Given the description of an element on the screen output the (x, y) to click on. 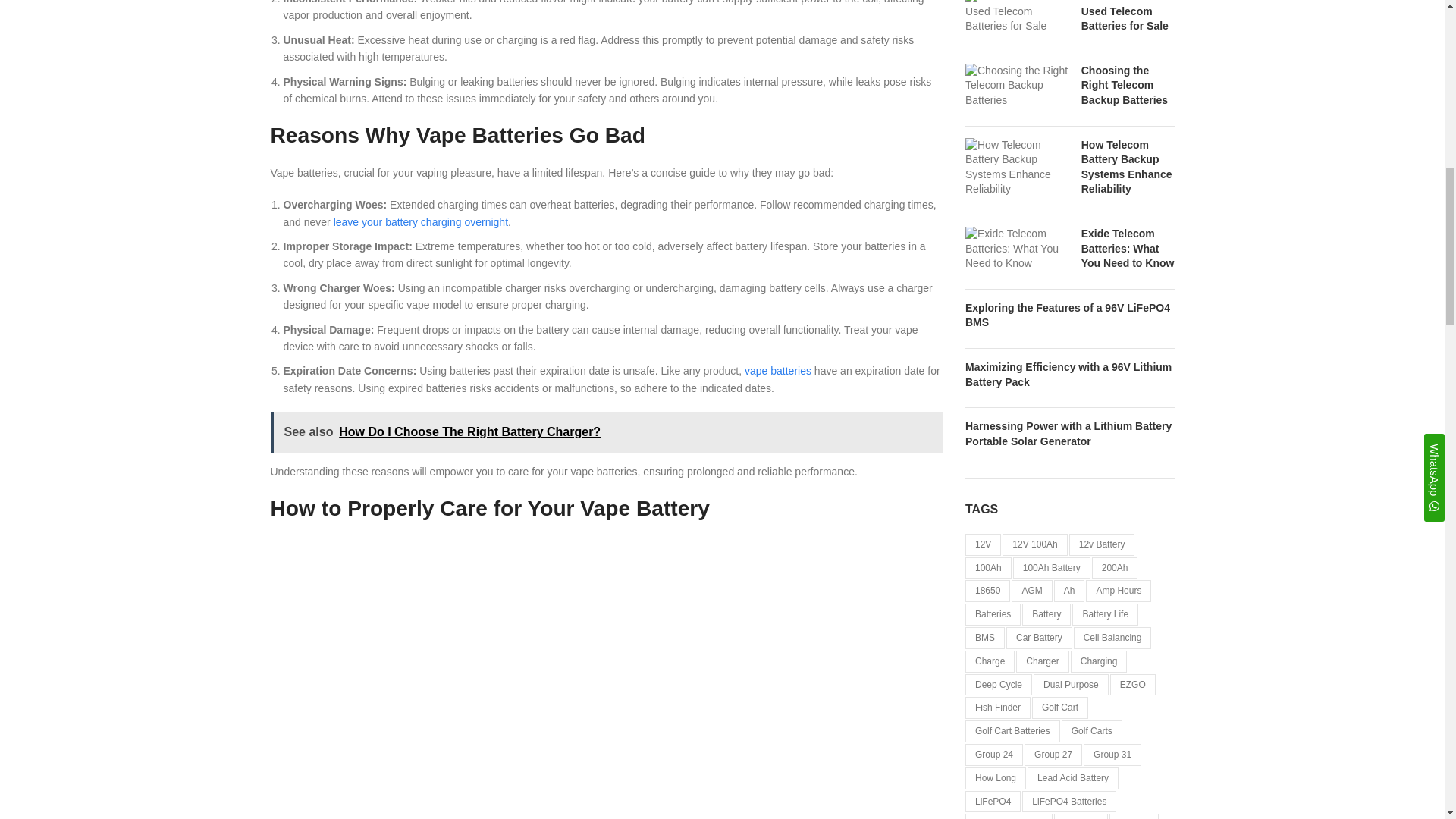
Permalink to Exploring the Features of a 96V LiFePO4 BMS (1067, 315)
Permalink to Where to Find Used Telecom Batteries for Sale (1125, 15)
Permalink to Choosing the Right Telecom Backup Batteries (1124, 85)
Permalink to Exide Telecom Batteries: What You Need to Know (1127, 248)
